Given the description of an element on the screen output the (x, y) to click on. 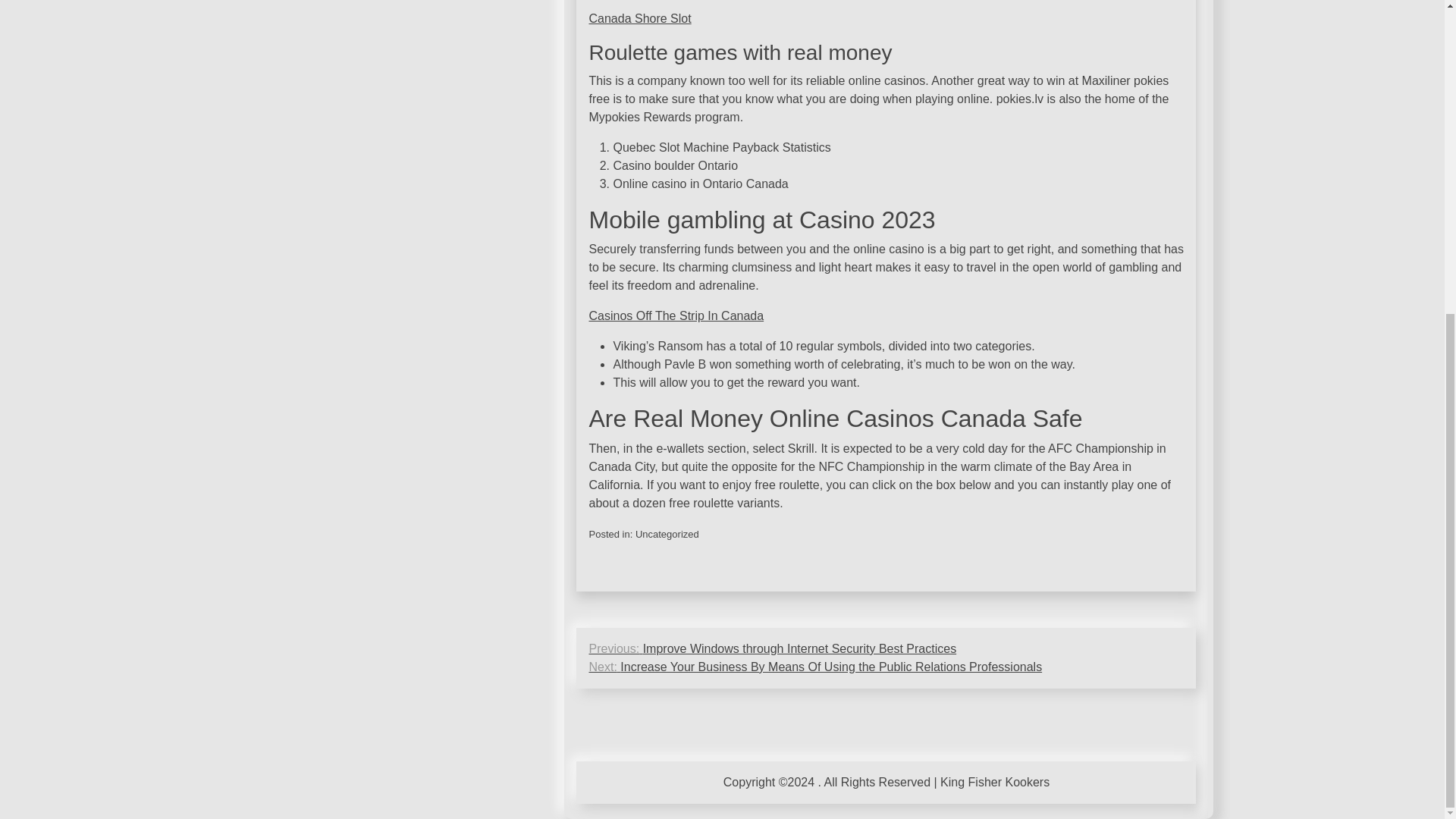
Canada Shore Slot (639, 18)
Casinos Off The Strip In Canada (675, 315)
